Given the description of an element on the screen output the (x, y) to click on. 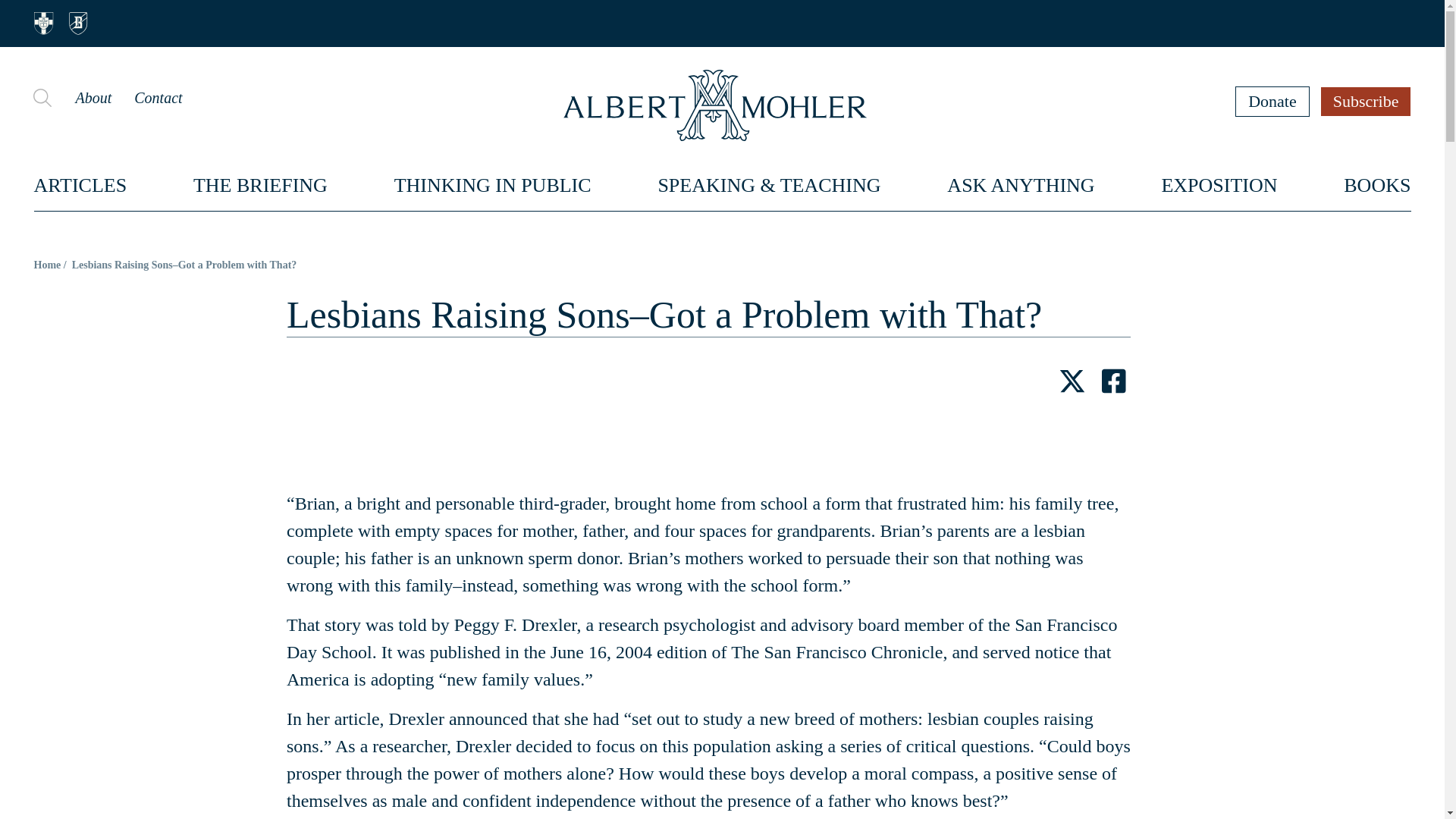
ASK ANYTHING (1020, 185)
Contact (157, 97)
ARTICLES (79, 185)
THINKING IN PUBLIC (492, 185)
EXPOSITION (1218, 185)
Home (47, 264)
BOOKS (1376, 185)
Subscribe (1366, 101)
Donate (1272, 101)
About (93, 97)
